Given the description of an element on the screen output the (x, y) to click on. 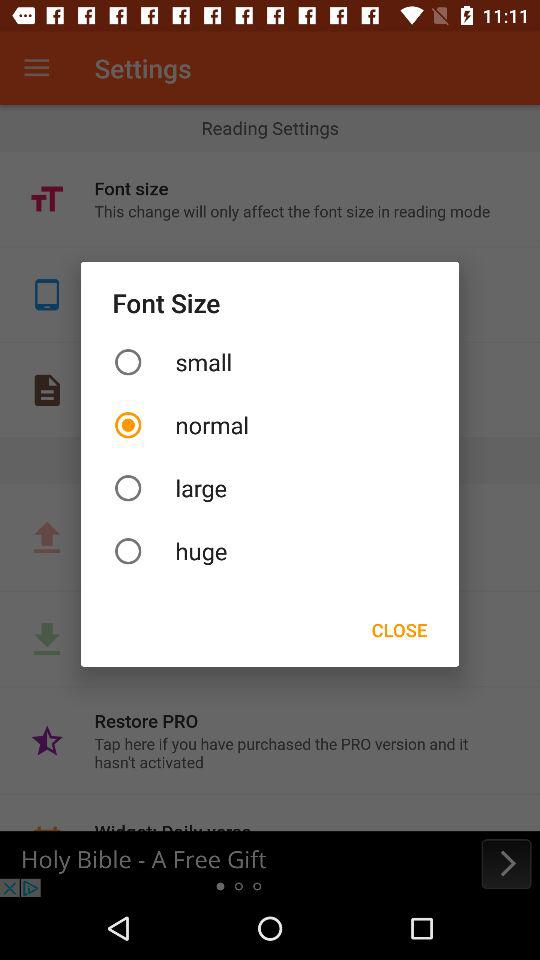
scroll until normal (270, 424)
